Given the description of an element on the screen output the (x, y) to click on. 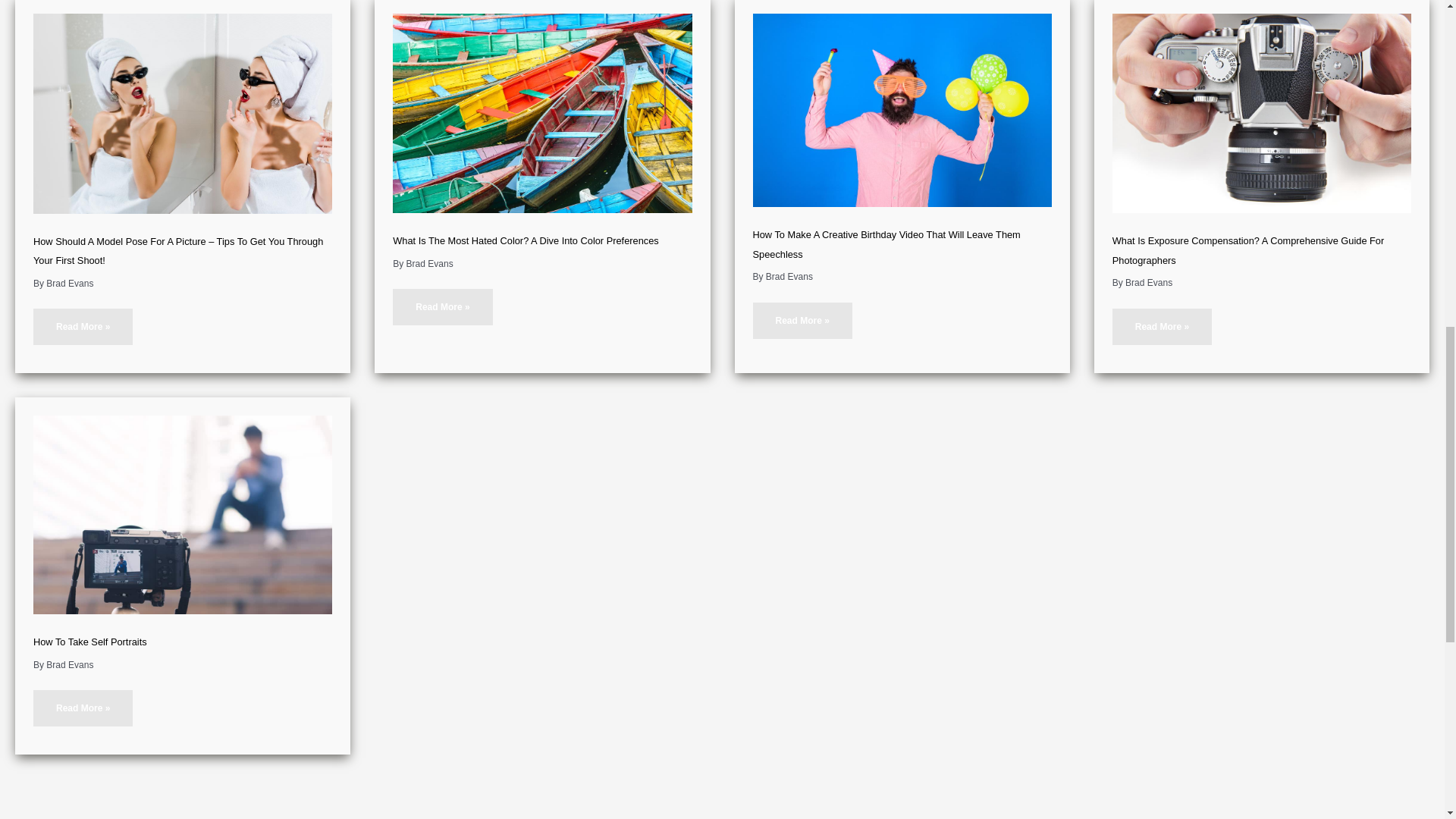
View all posts by Brad Evans (1148, 282)
View all posts by Brad Evans (69, 665)
View all posts by Brad Evans (788, 276)
View all posts by Brad Evans (69, 283)
View all posts by Brad Evans (429, 263)
